Given the description of an element on the screen output the (x, y) to click on. 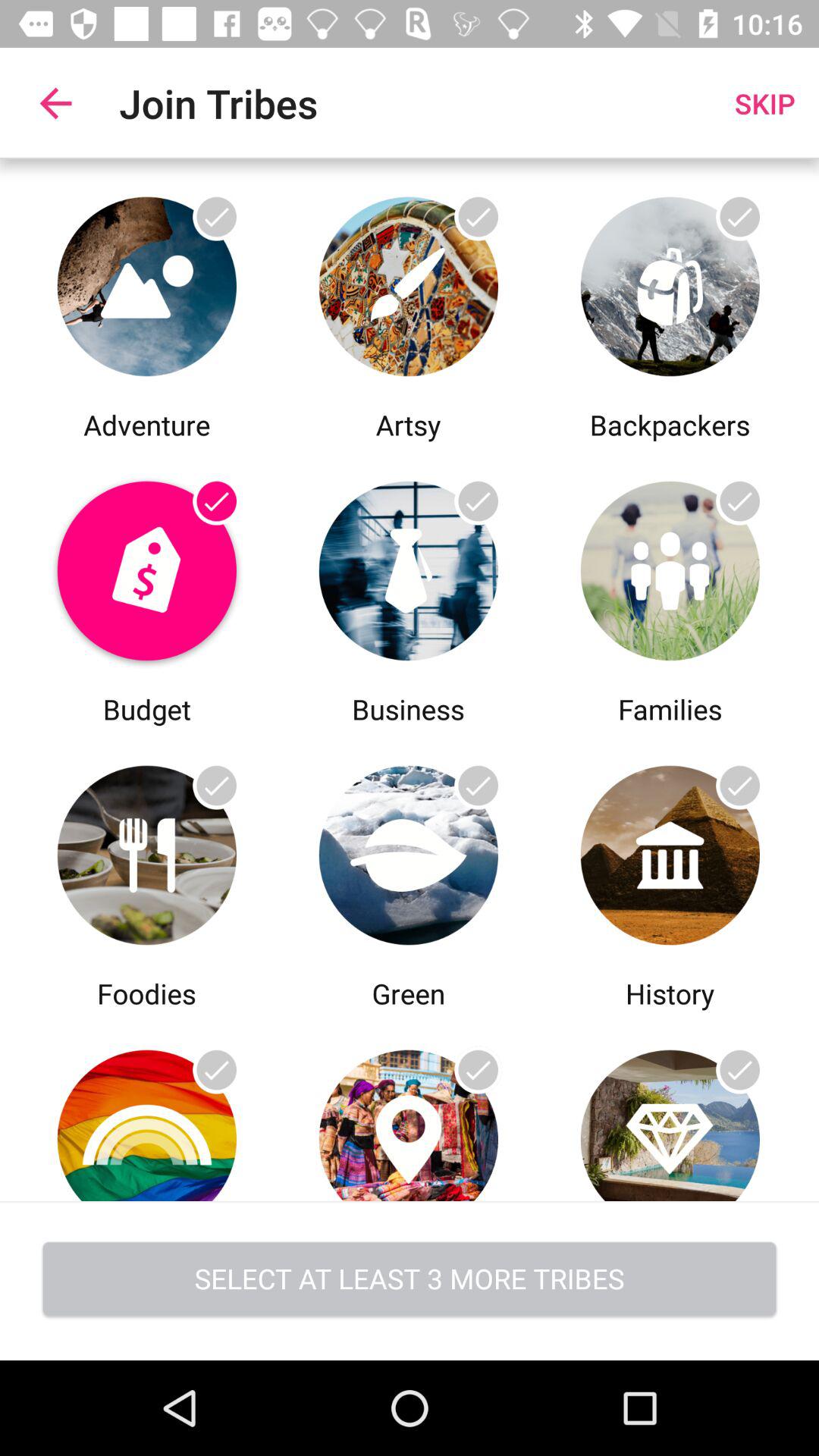
select tribe (408, 566)
